Given the description of an element on the screen output the (x, y) to click on. 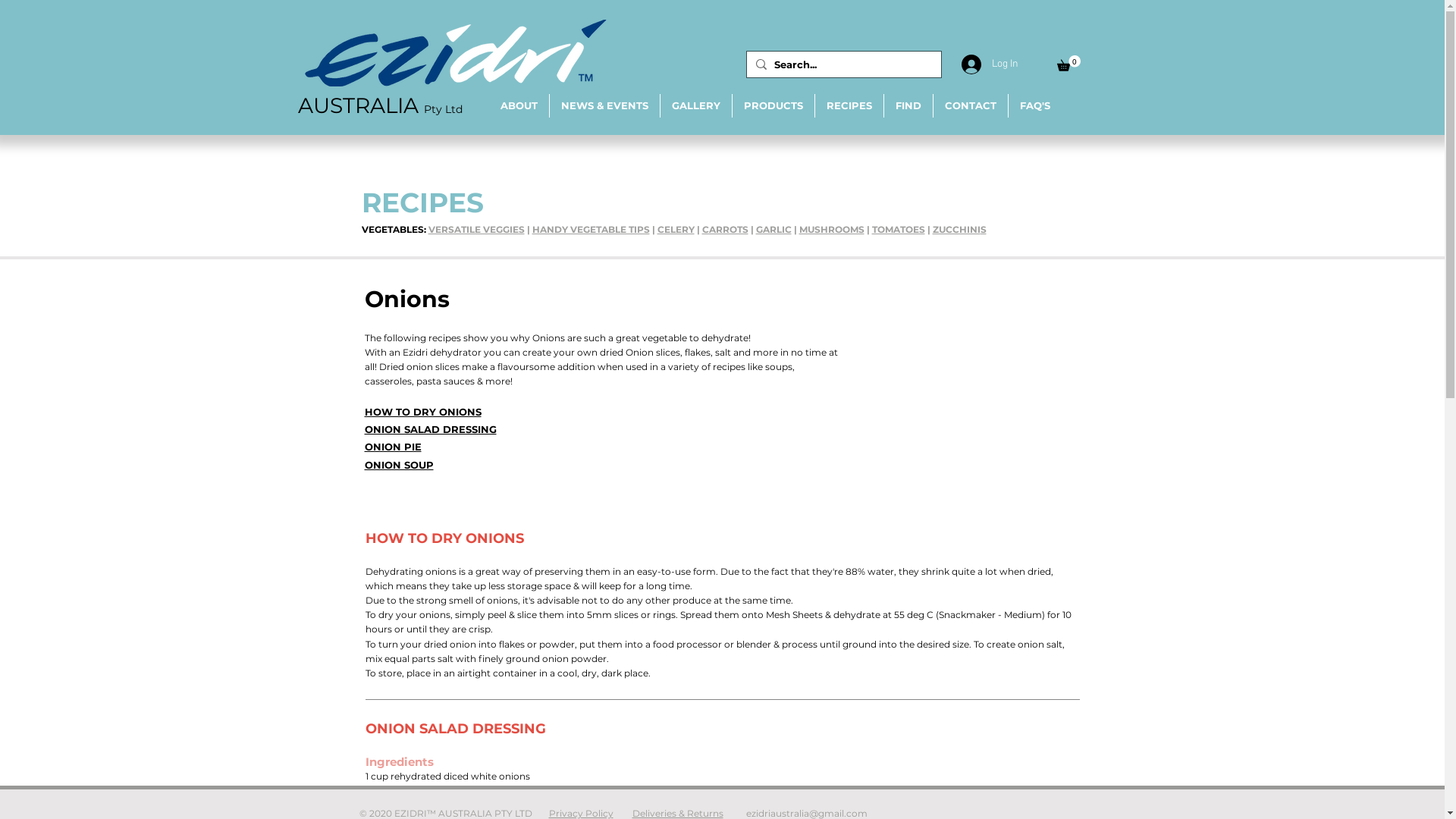
S Element type: text (982, 229)
CONTACT Element type: text (969, 105)
HOW TO DRY ONIONS Element type: text (422, 411)
NEWS & EVENTS Element type: text (603, 105)
ONION PIE Element type: text (392, 446)
GARLIC Element type: text (772, 229)
HANDY VEGETABLE TIPS Element type: text (590, 229)
MUSHROOMS Element type: text (831, 229)
FAQ'S Element type: text (1034, 105)
RECIPES Element type: text (848, 105)
ONION SOUP Element type: text (398, 464)
Log In Element type: text (981, 64)
PRODUCTS Element type: text (773, 105)
ZUCCHINI Element type: text (956, 229)
0 Element type: text (1068, 63)
CELERY Element type: text (674, 229)
FIND Element type: text (908, 105)
CARROTS Element type: text (725, 229)
VERSATILE VEGGIES Element type: text (475, 229)
TOMATOES Element type: text (898, 229)
ONION SALAD DRESSING Element type: text (429, 429)
ABOUT Element type: text (518, 105)
GALLERY Element type: text (695, 105)
